Given the description of an element on the screen output the (x, y) to click on. 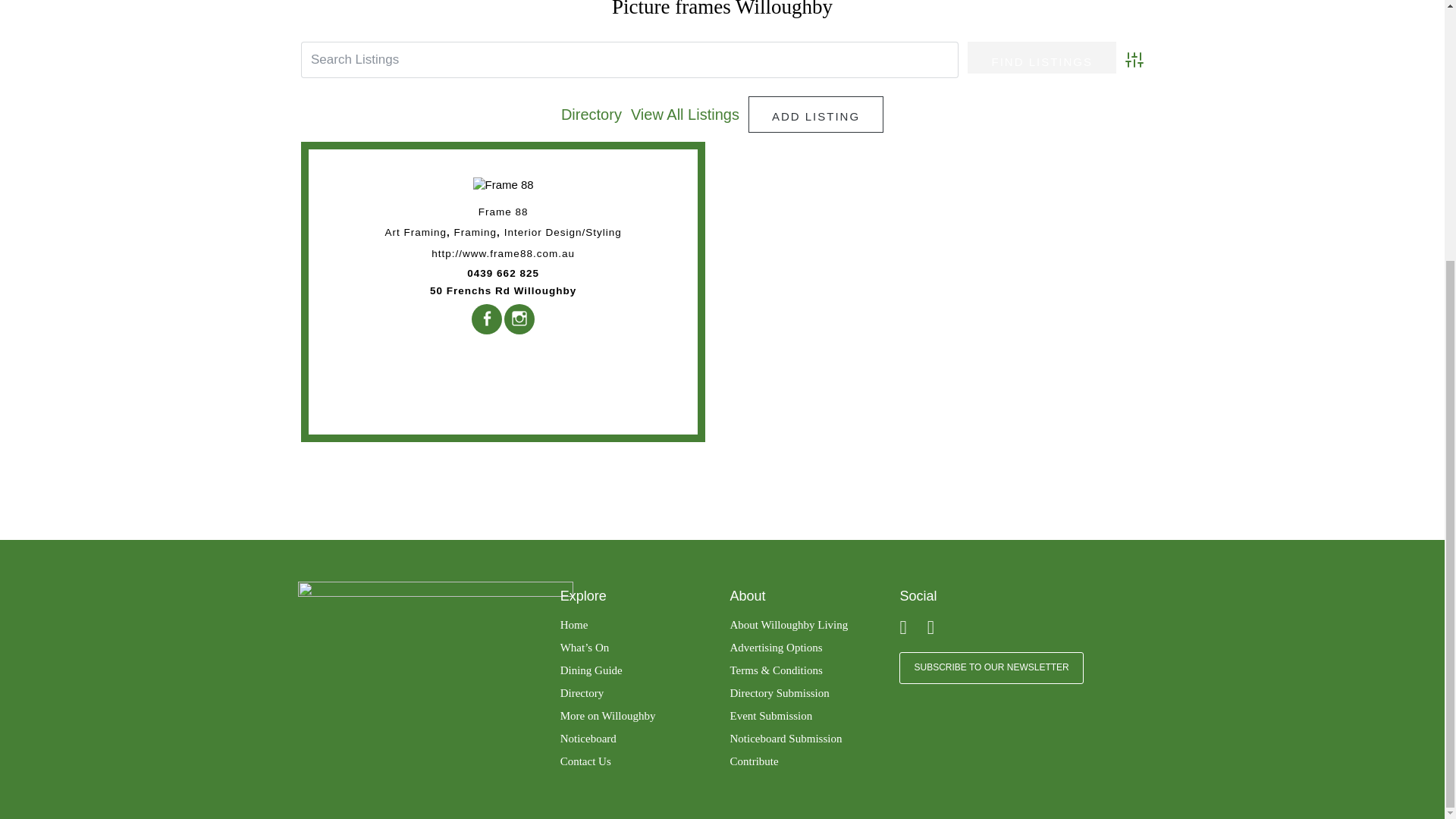
Frame 88 (503, 184)
Quick search keywords (629, 59)
Find Listings (1042, 57)
Advanced Search (1133, 59)
